Given the description of an element on the screen output the (x, y) to click on. 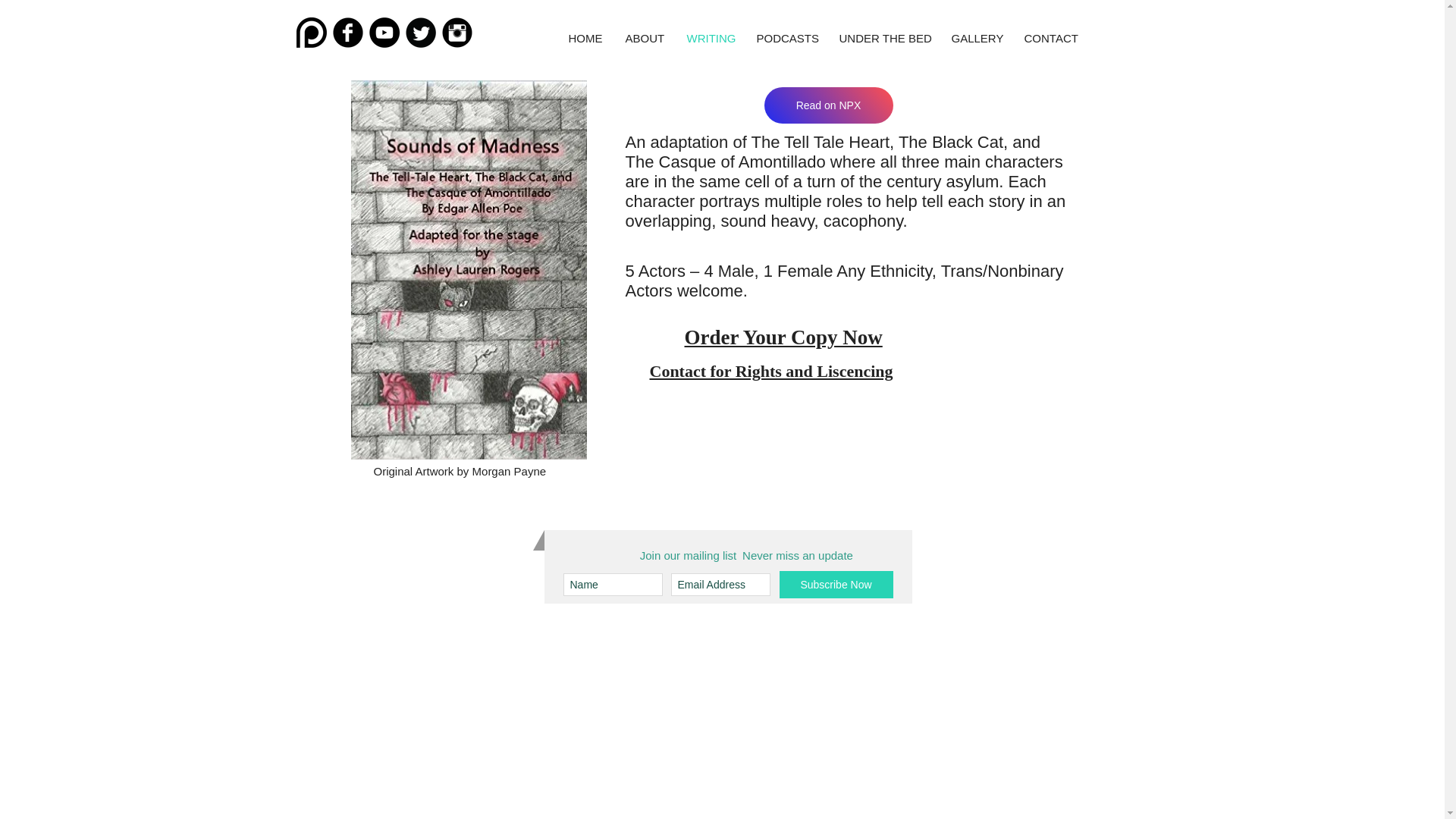
ABOUT (644, 37)
UNDER THE BED (884, 37)
GALLERY (976, 37)
Order Your Copy Now (783, 336)
HOME (584, 37)
Read on NPX (828, 104)
Subscribe Now (835, 584)
WRITING (709, 37)
Contact for Rights and Liscencing (770, 370)
CONTACT (1050, 37)
